Given the description of an element on the screen output the (x, y) to click on. 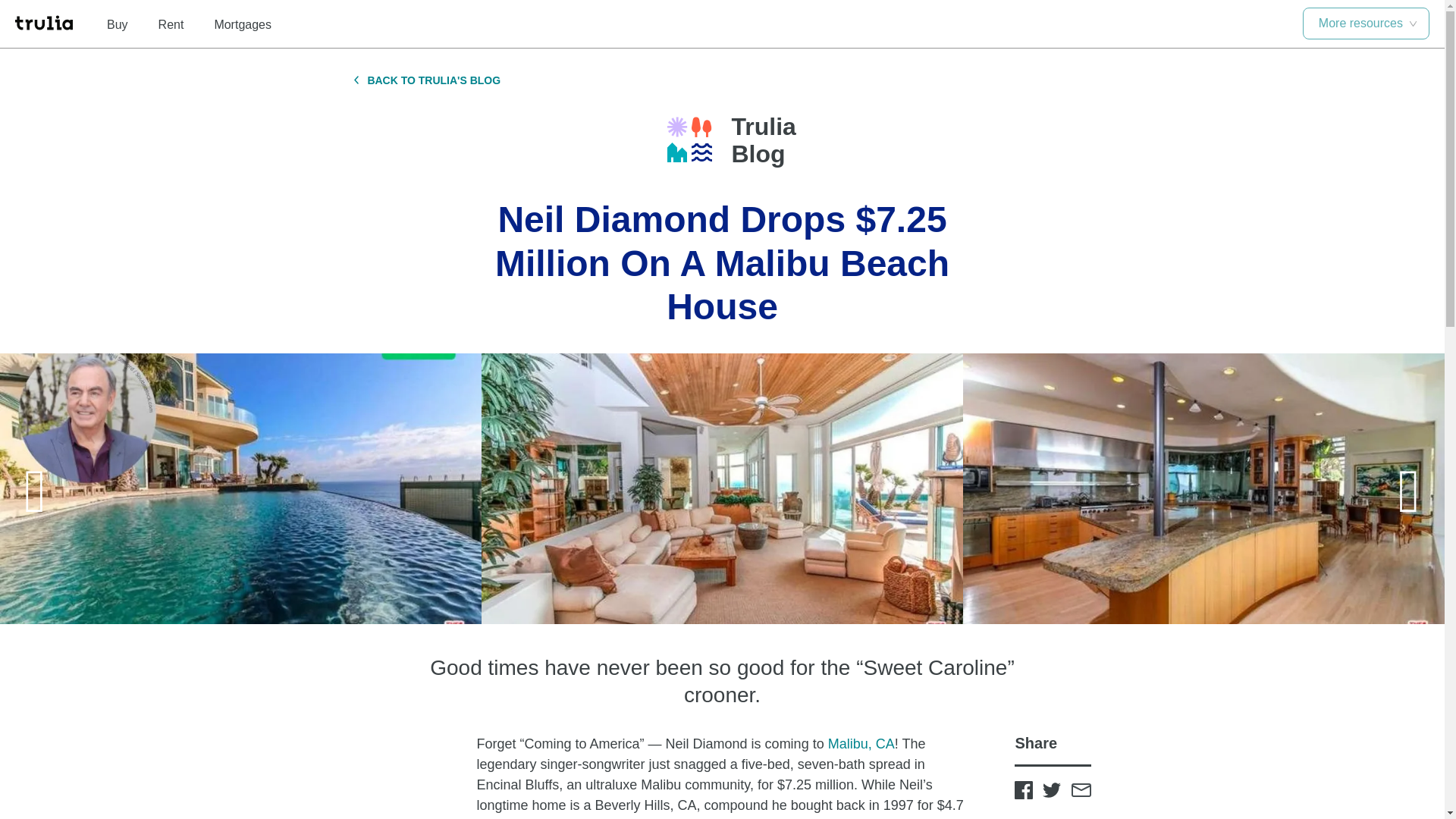
twitter Created with Sketch. (1051, 789)
GROUP CREATED WITH SKETCH. (355, 80)
facebook Created with Sketch. (1023, 788)
Email Created with Sketch. (1080, 789)
Mortgages (242, 24)
GROUP CREATED WITH SKETCH. BACK TO TRULIA'S BLOG (426, 80)
Email Created with Sketch. (1080, 788)
Buy (117, 24)
facebook Created with Sketch. (1023, 790)
Rent (171, 24)
twitter Created with Sketch. (1051, 788)
Malibu, CA (861, 743)
More resources (1366, 23)
Trulia Logo (688, 139)
